Given the description of an element on the screen output the (x, y) to click on. 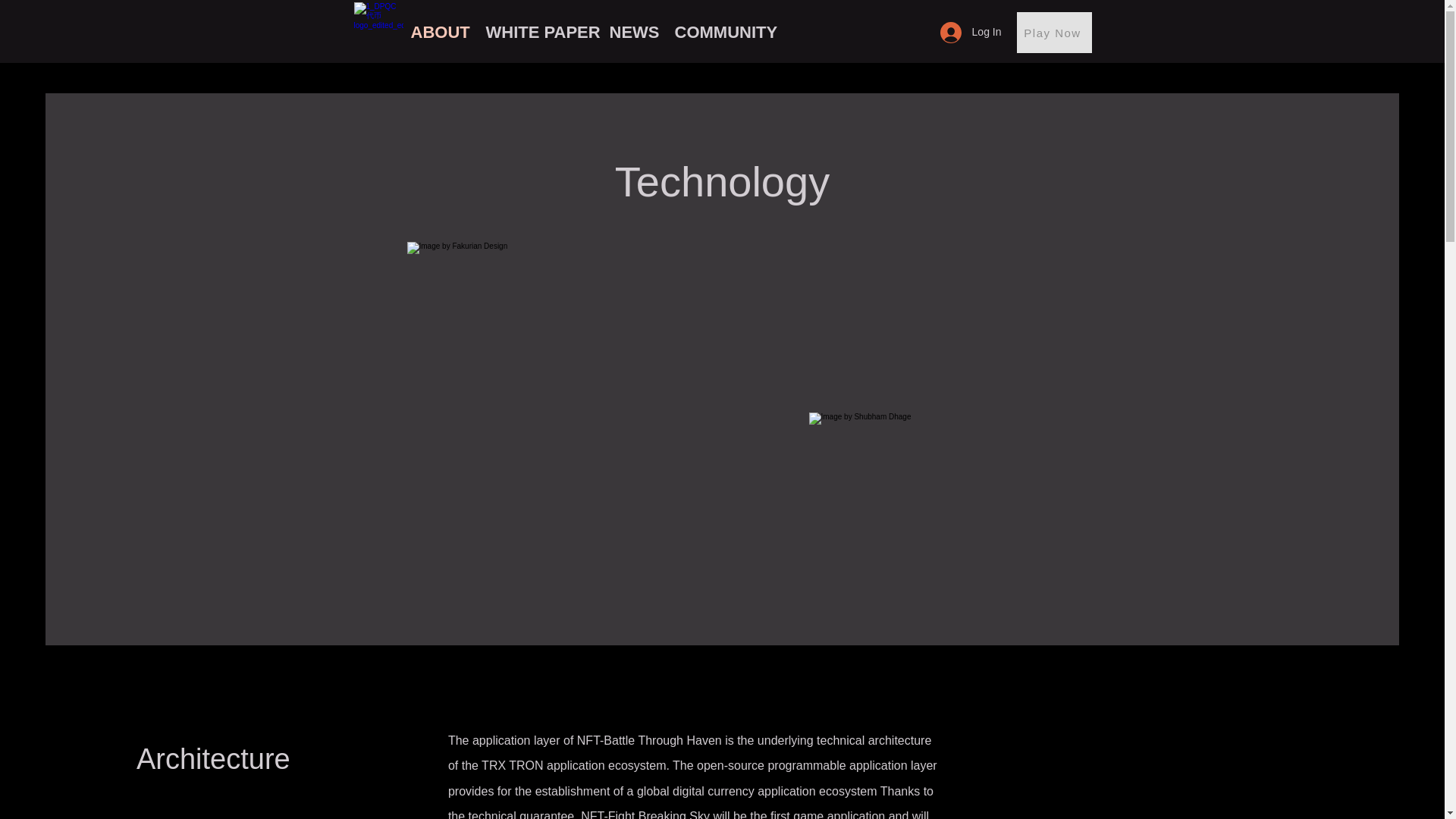
COMMUNITY (728, 32)
ABOUT (441, 32)
Play Now (1053, 32)
Log In (970, 32)
WHITE PAPER (539, 32)
NEWS (634, 32)
